Given the description of an element on the screen output the (x, y) to click on. 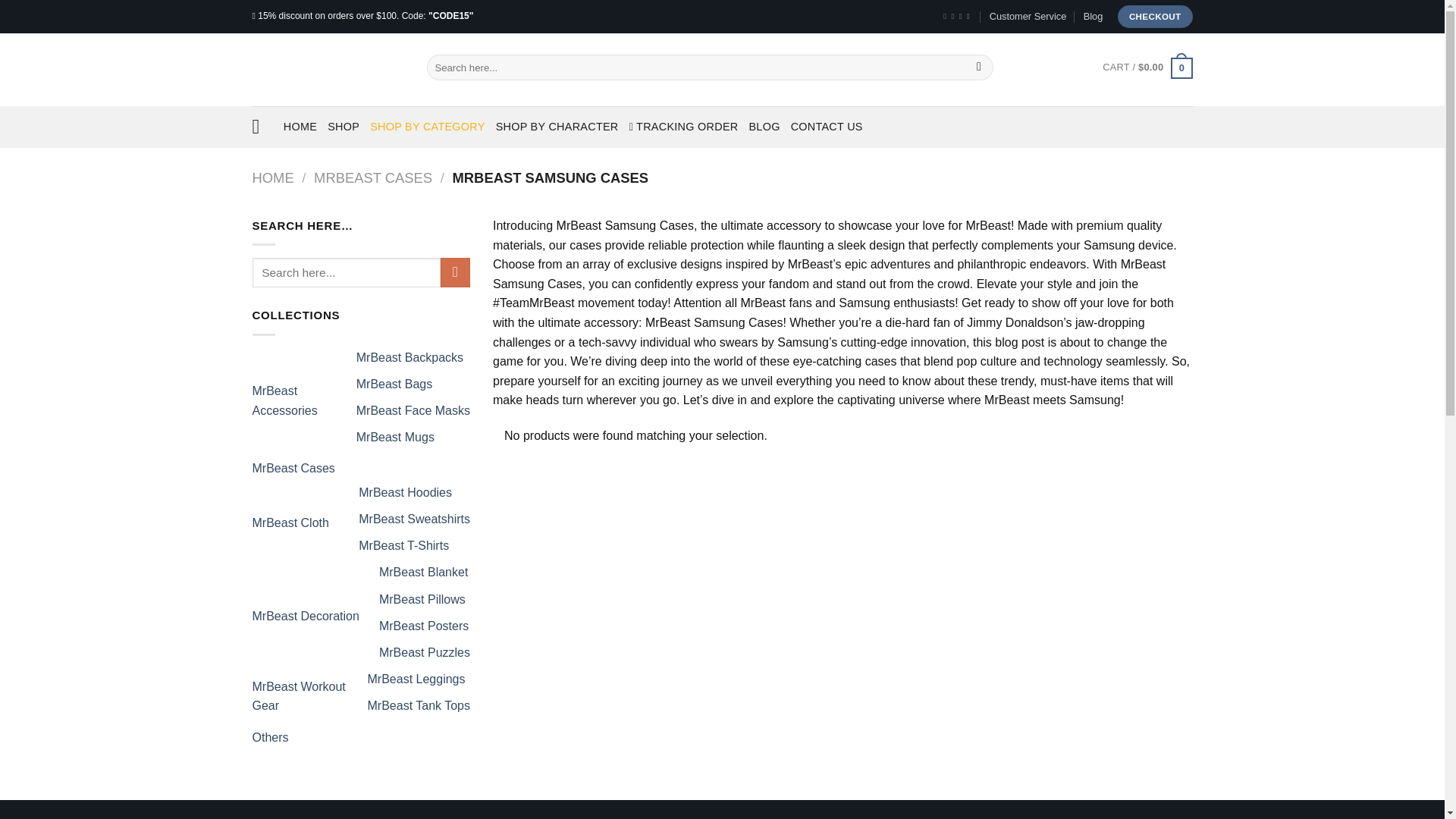
CHECKOUT (1155, 15)
Follow on Facebook (946, 16)
Follow on Instagram (954, 16)
HOME (300, 126)
MrBeast Shop - Official MrBeast Merchandise Store (327, 70)
SHOP (343, 126)
Follow on Twitter (962, 16)
Cart (1147, 67)
Blog (1093, 15)
Customer Service (1028, 15)
SHOP BY CATEGORY (426, 126)
Send us an email (970, 16)
Search (978, 67)
